Given the description of an element on the screen output the (x, y) to click on. 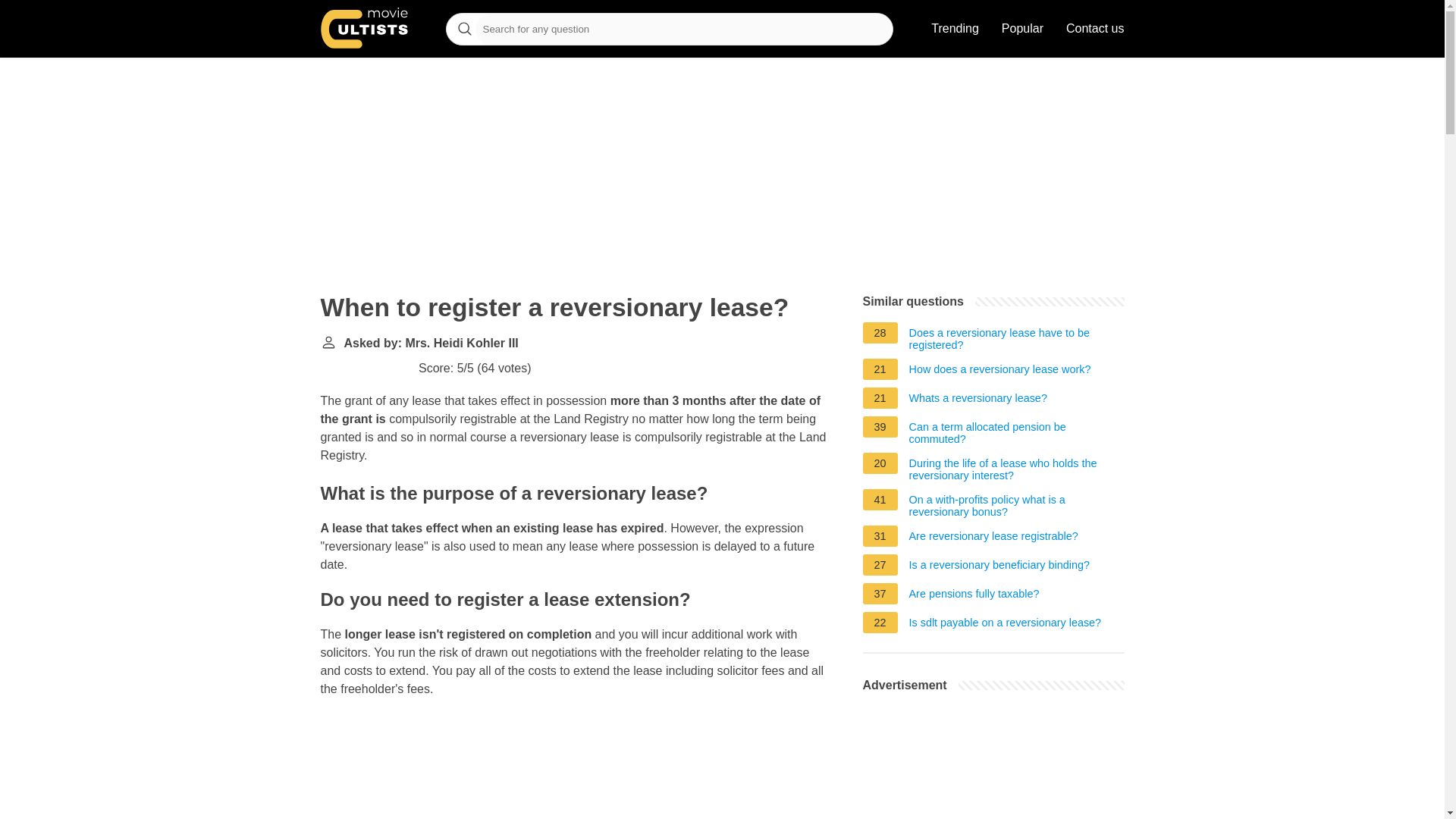
Contact us (1094, 28)
Is a reversionary beneficiary binding? (998, 566)
How does a reversionary lease work? (999, 371)
Are pensions fully taxable? (973, 596)
Is sdlt payable on a reversionary lease? (1005, 624)
Are reversionary lease registrable? (993, 538)
Can a term allocated pension be commuted? (1016, 432)
Does a reversionary lease have to be registered? (1016, 338)
Popular (1022, 28)
